Given the description of an element on the screen output the (x, y) to click on. 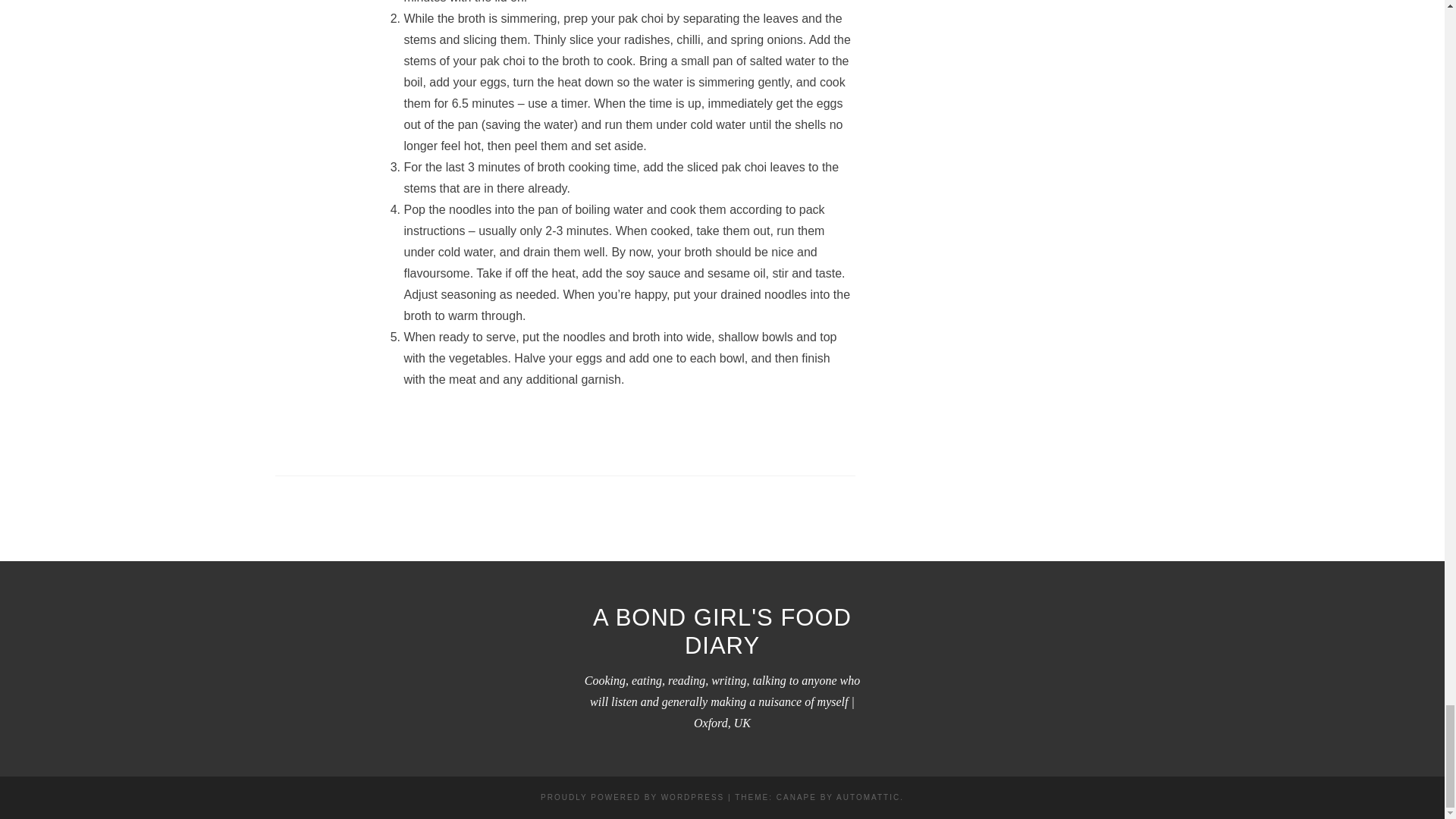
A Bond Girl's Food Diary (721, 632)
AUTOMATTIC (867, 797)
PROUDLY POWERED BY WORDPRESS (631, 797)
A BOND GIRL'S FOOD DIARY (721, 632)
